Given the description of an element on the screen output the (x, y) to click on. 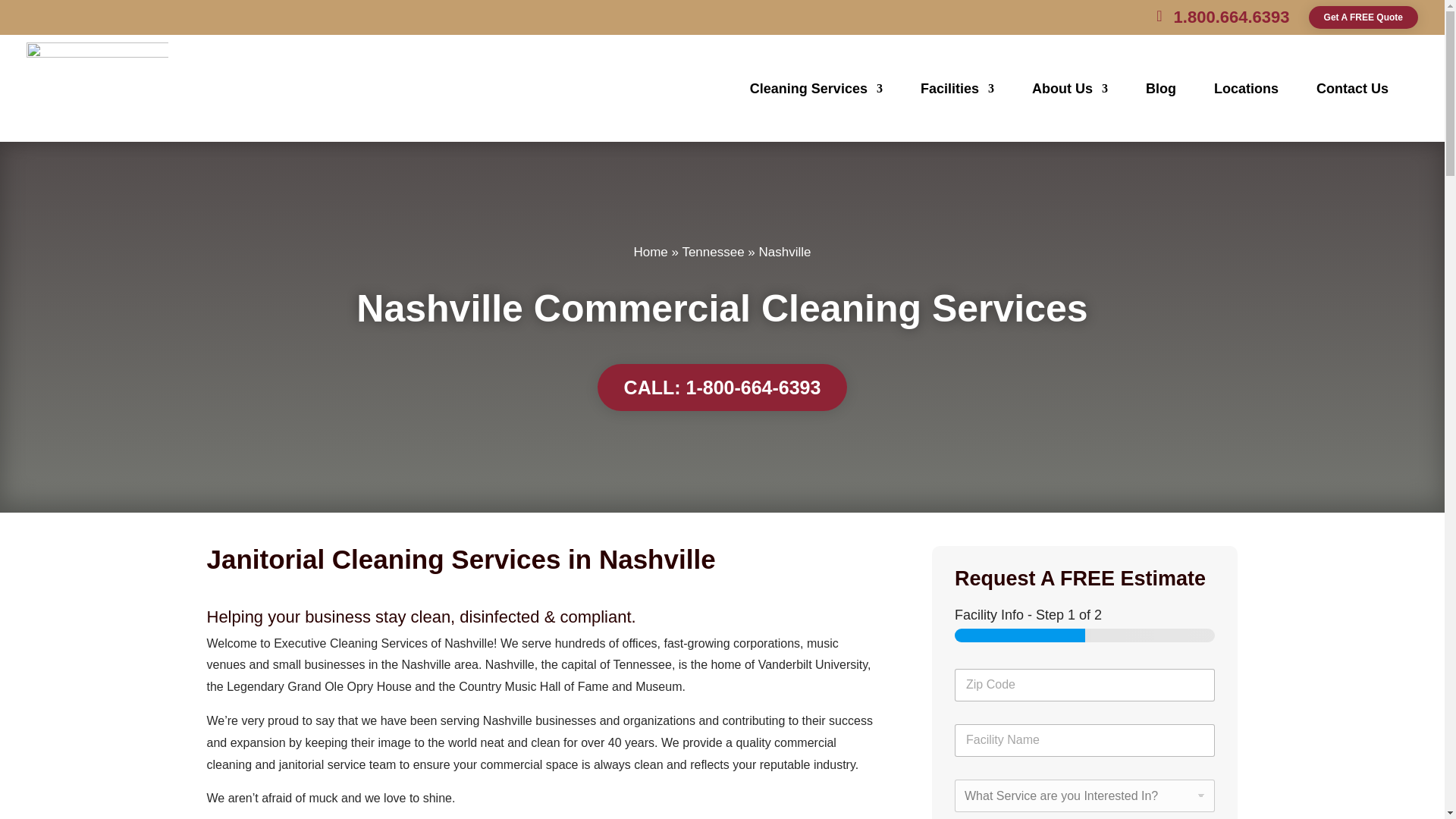
1.800.664.6393 (1231, 16)
Get A FREE Quote (1363, 16)
Cleaning Services (815, 88)
